Given the description of an element on the screen output the (x, y) to click on. 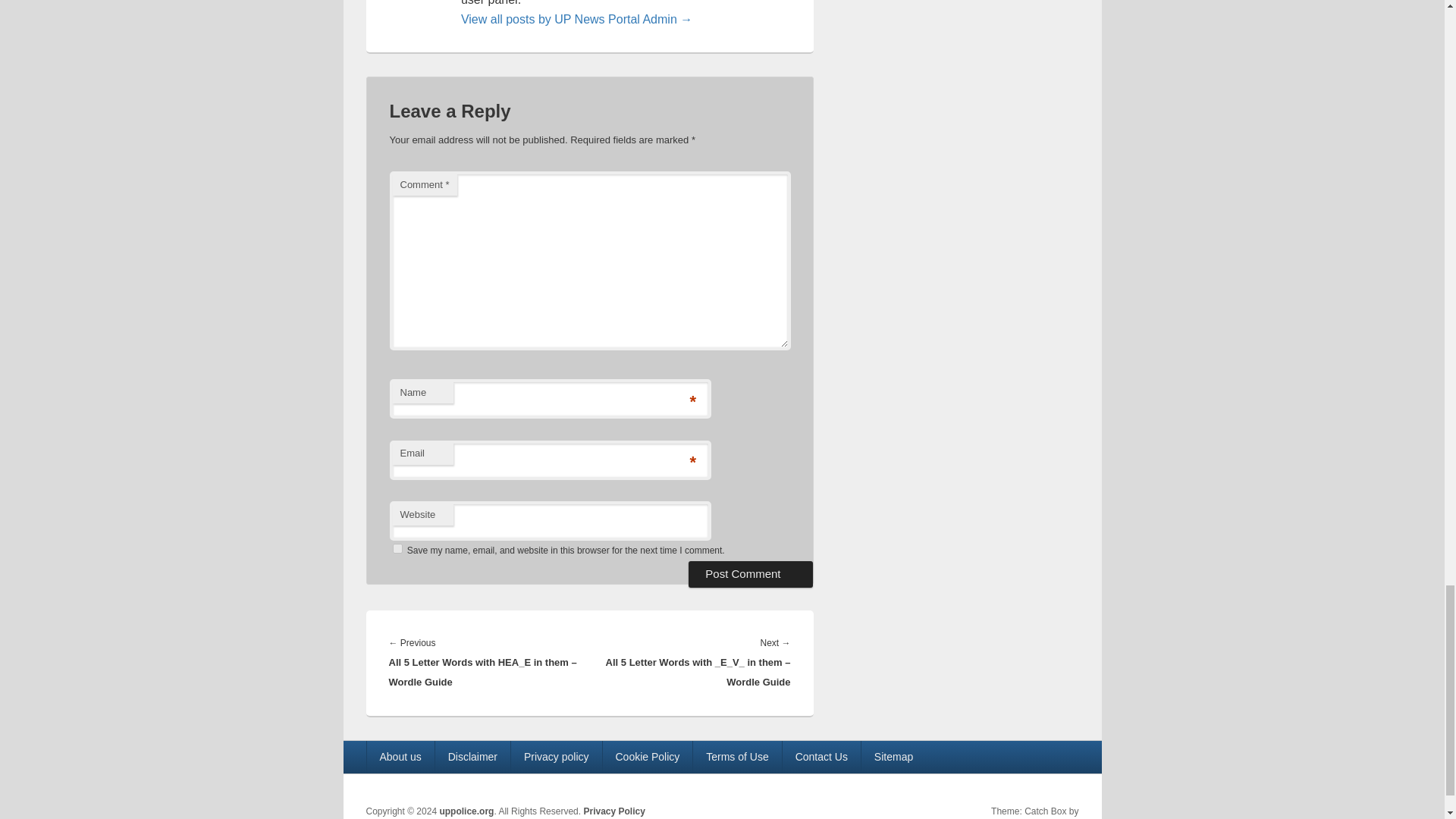
Post Comment (750, 574)
yes (398, 548)
Post Comment (750, 574)
uppolice.org (466, 810)
